Given the description of an element on the screen output the (x, y) to click on. 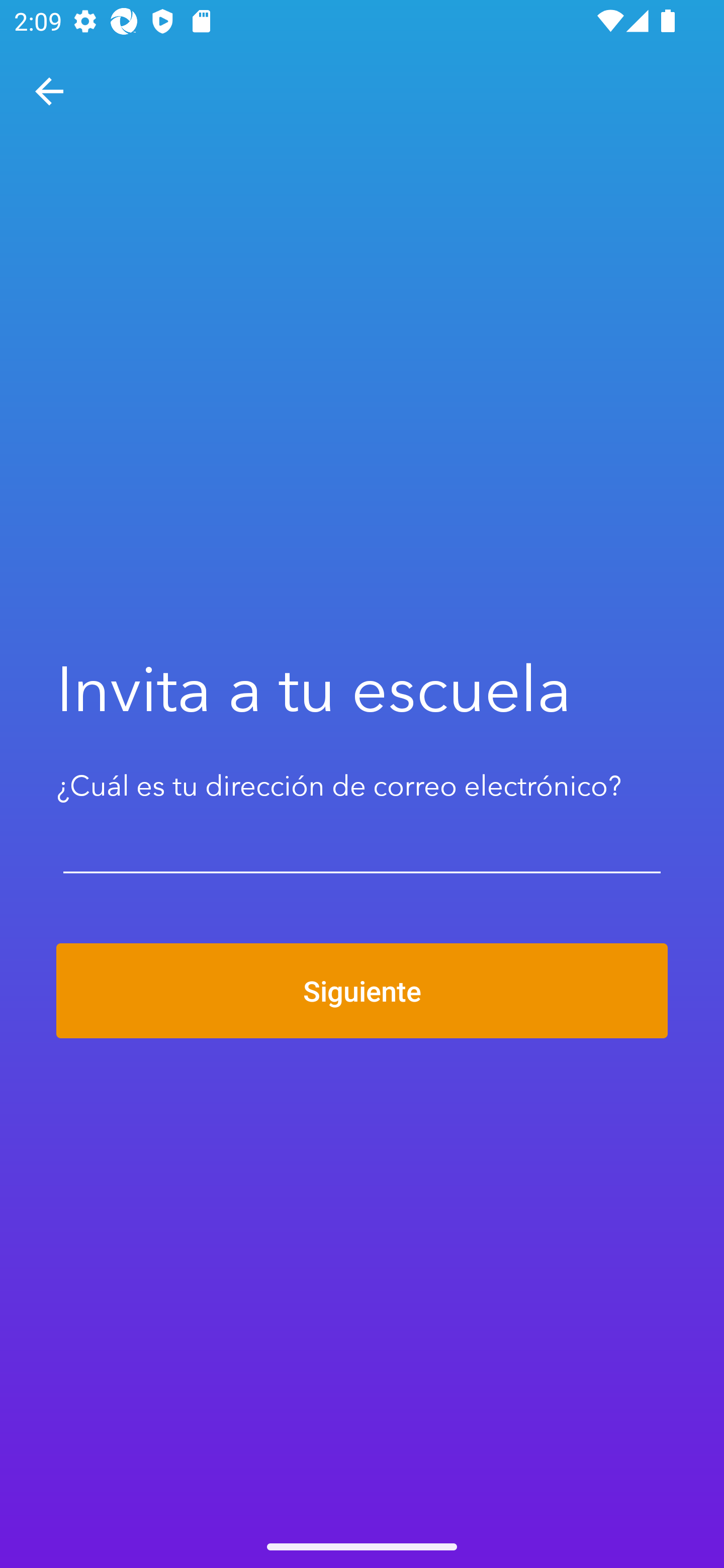
Navegar hacia arriba (49, 91)
Siguiente (361, 990)
